Given the description of an element on the screen output the (x, y) to click on. 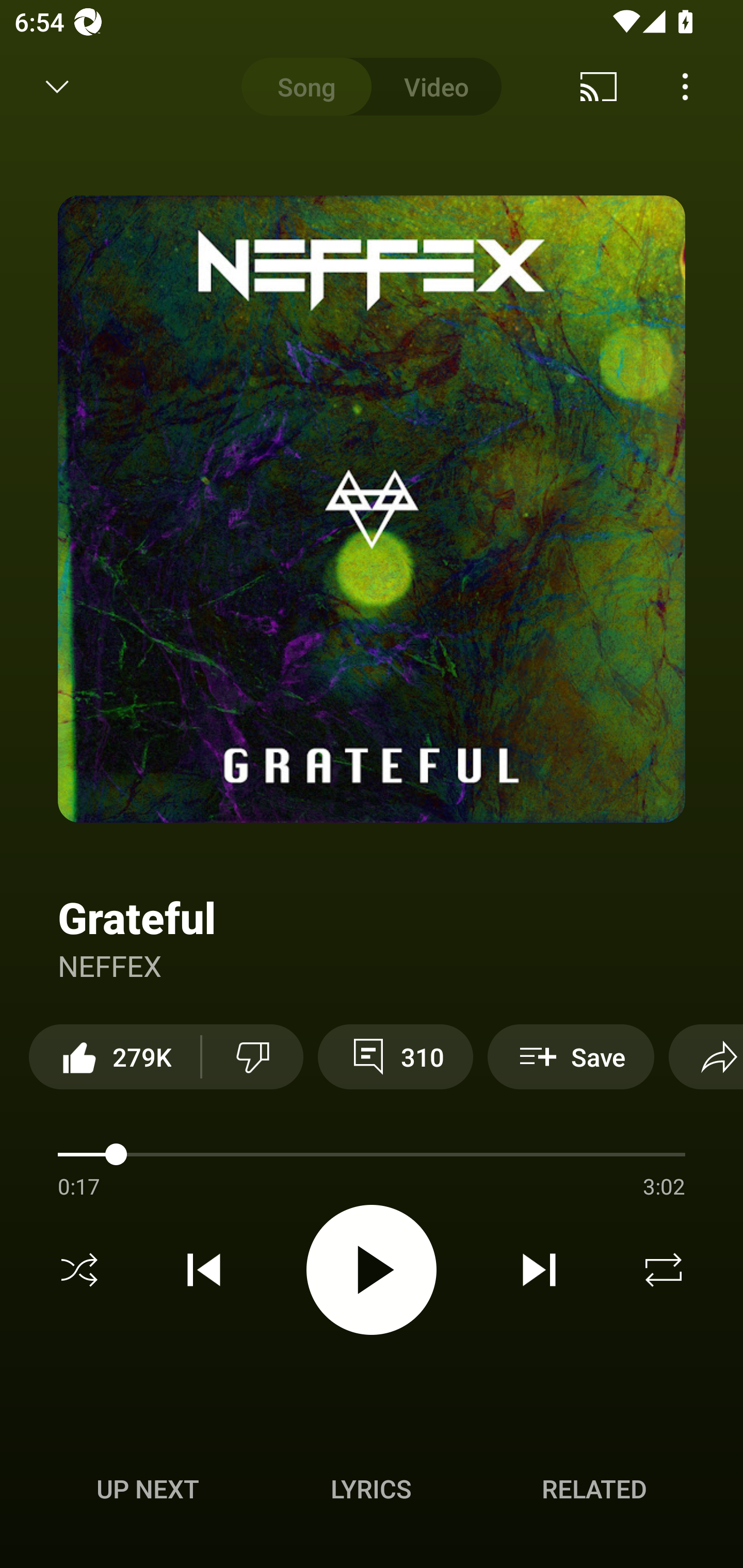
Minimize (57, 86)
Cast. Disconnected (598, 86)
Menu (684, 86)
Dislike (252, 1056)
310 View 310 comments (395, 1056)
Save Save to playlist (570, 1056)
Share (705, 1056)
Play video (371, 1269)
Shuffle off (79, 1269)
Previous track (203, 1269)
Next track (538, 1269)
Repeat off (663, 1269)
Up next UP NEXT Lyrics LYRICS Related RELATED (371, 1491)
Lyrics LYRICS (370, 1488)
Related RELATED (594, 1488)
